Given the description of an element on the screen output the (x, y) to click on. 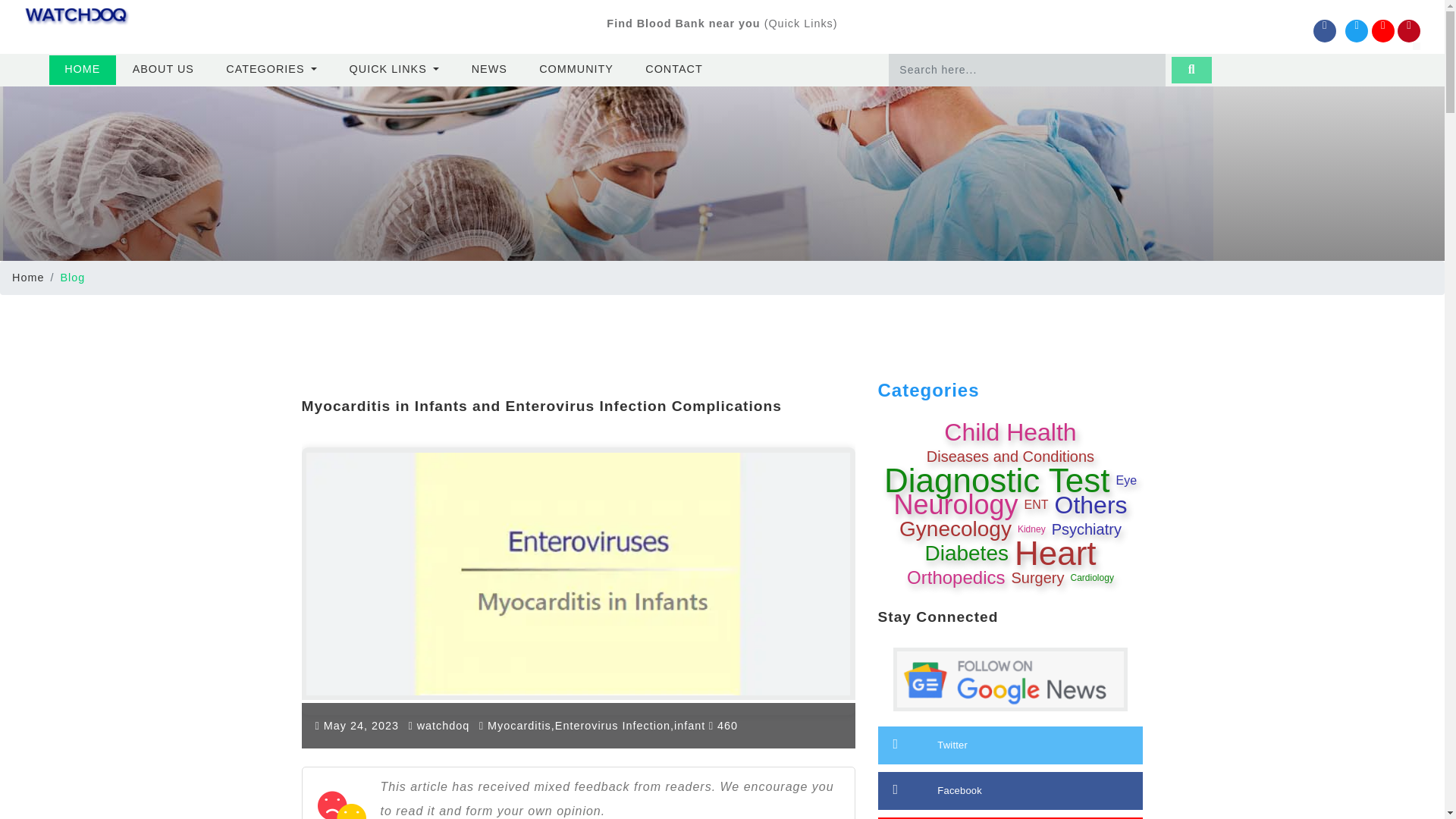
YouTube (1382, 30)
QUICK LINKS (393, 70)
Facebook (1324, 30)
Pinterest (1409, 30)
Find Blood Bank near you (683, 23)
Tag: Myocarditis,Enterovirus Infection,infant (595, 725)
Trusted Healthcare Review site in India (77, 17)
Twitter (1356, 30)
CATEGORIES (271, 70)
ABOUT US (162, 70)
